Given the description of an element on the screen output the (x, y) to click on. 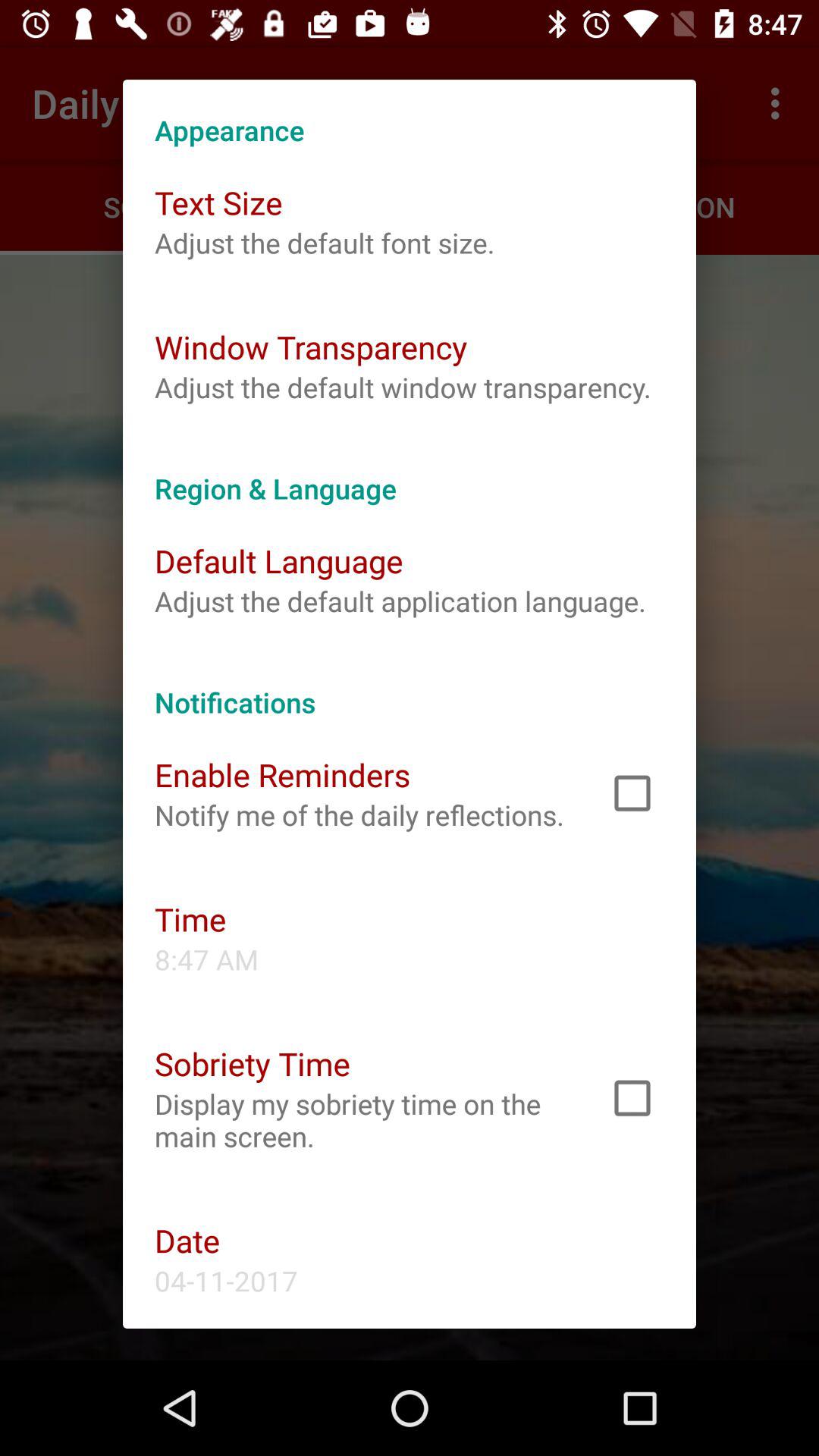
click icon at the top left corner (218, 202)
